Given the description of an element on the screen output the (x, y) to click on. 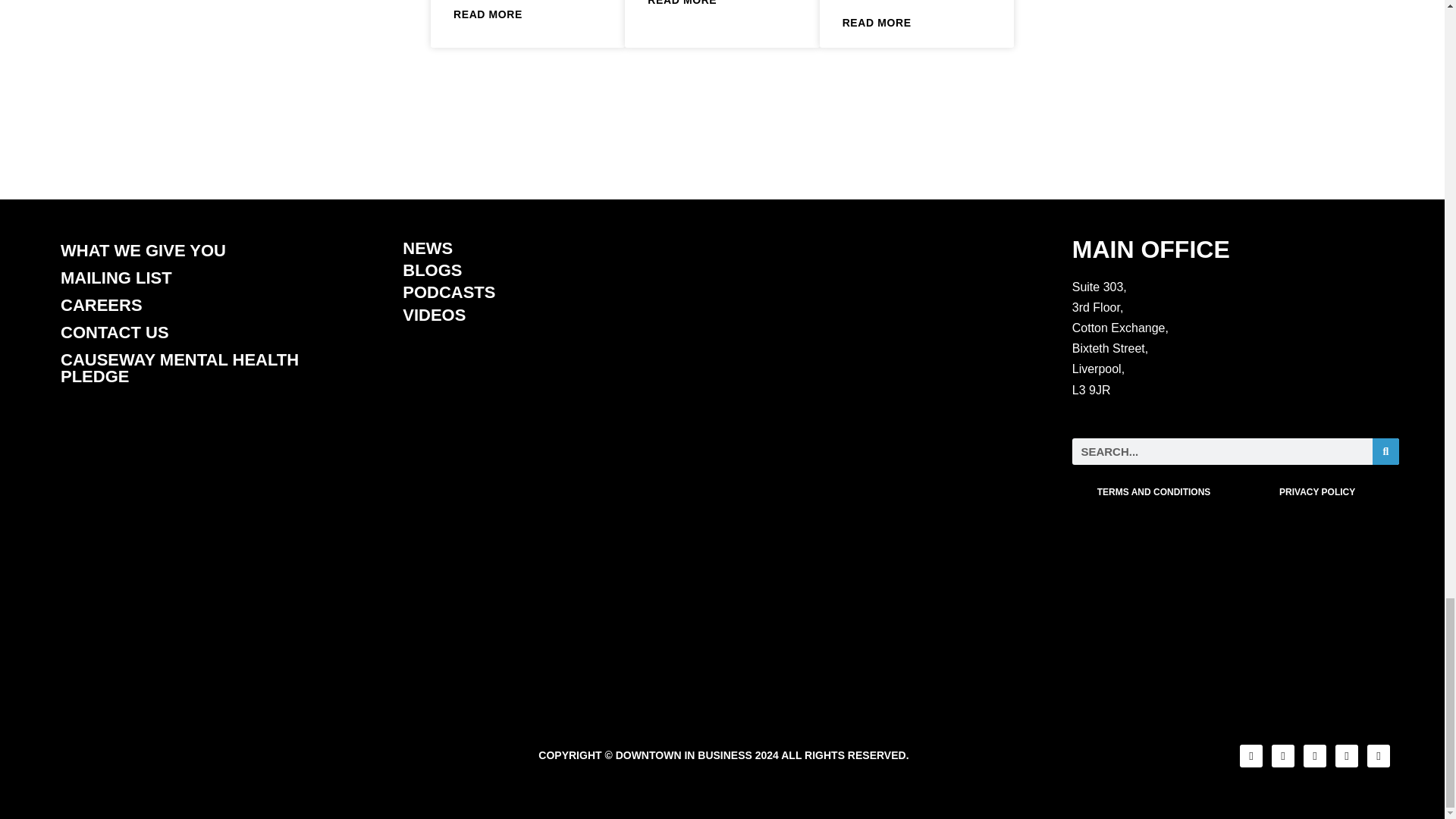
READ MORE (487, 14)
